Given the description of an element on the screen output the (x, y) to click on. 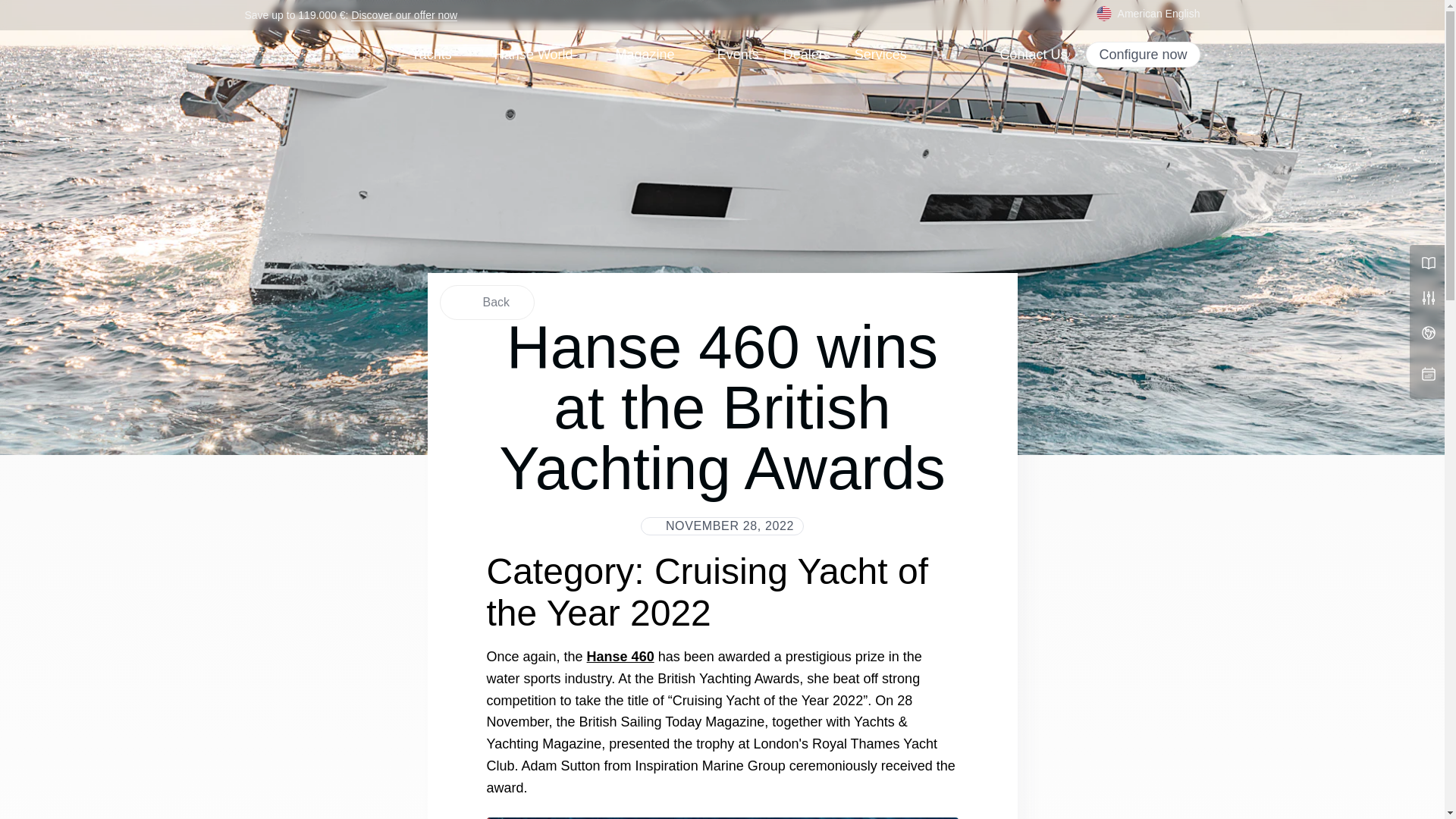
Discover our offer now (403, 15)
Hanse Yachts (302, 54)
Yachts (430, 54)
Open search box (1074, 14)
Contact Us (1033, 54)
Events (737, 54)
Dealers (806, 54)
Configure now (1142, 54)
Magazine (654, 54)
American English (1147, 13)
